Given the description of an element on the screen output the (x, y) to click on. 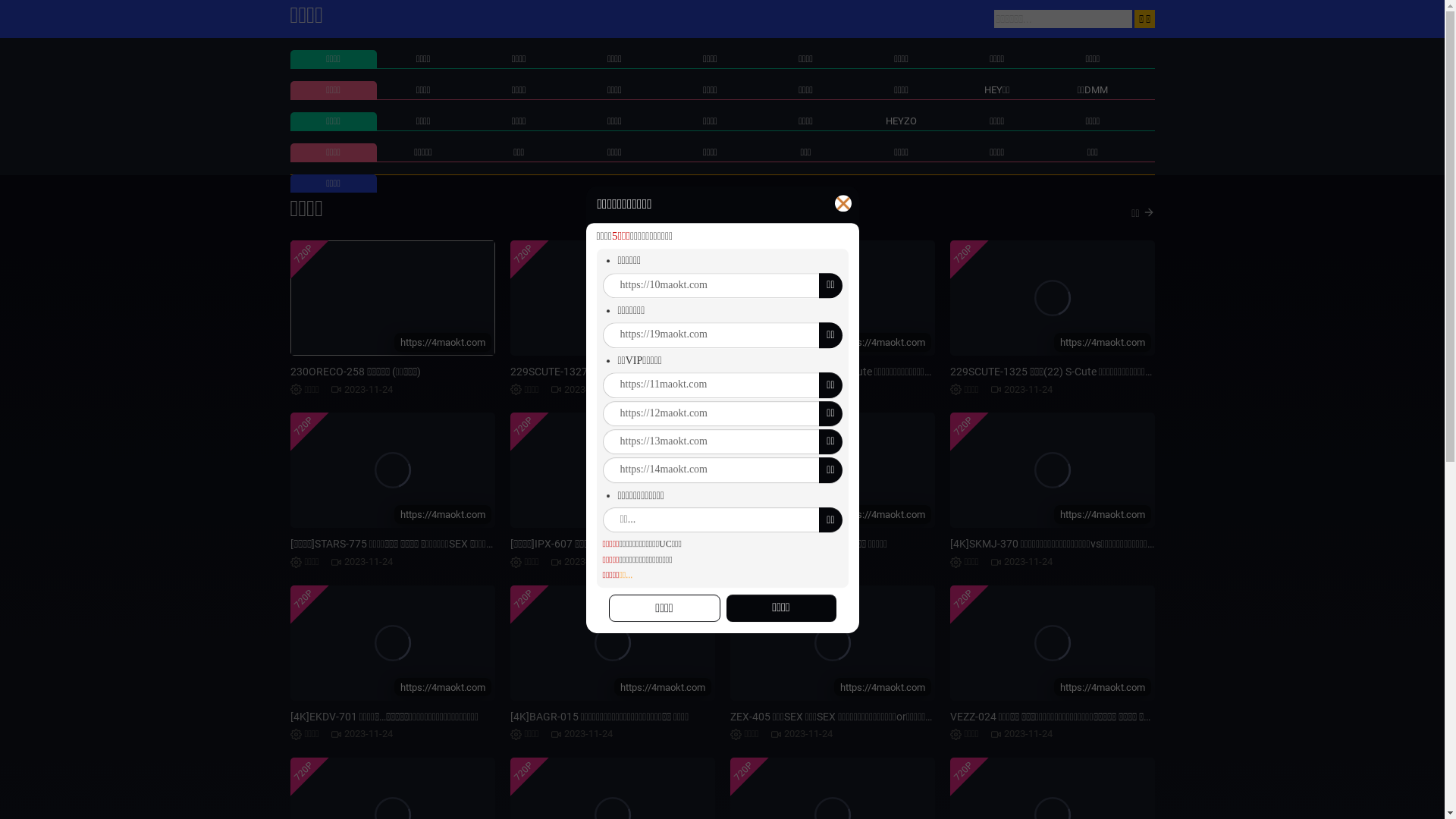
720P
https://4maokt.com Element type: text (831, 469)
720P
https://4maokt.com Element type: text (1051, 469)
720P
https://4maokt.com Element type: text (391, 297)
720P
https://4maokt.com Element type: text (611, 642)
720P
https://4maokt.com Element type: text (1051, 297)
720P
https://4maokt.com Element type: text (1051, 642)
HEYZO Element type: text (900, 120)
720P
https://4maokt.com Element type: text (831, 642)
720P
https://4maokt.com Element type: text (831, 297)
720P
https://4maokt.com Element type: text (391, 469)
720P
https://4maokt.com Element type: text (611, 469)
720P
https://4maokt.com Element type: text (611, 297)
720P
https://4maokt.com Element type: text (391, 642)
